Given the description of an element on the screen output the (x, y) to click on. 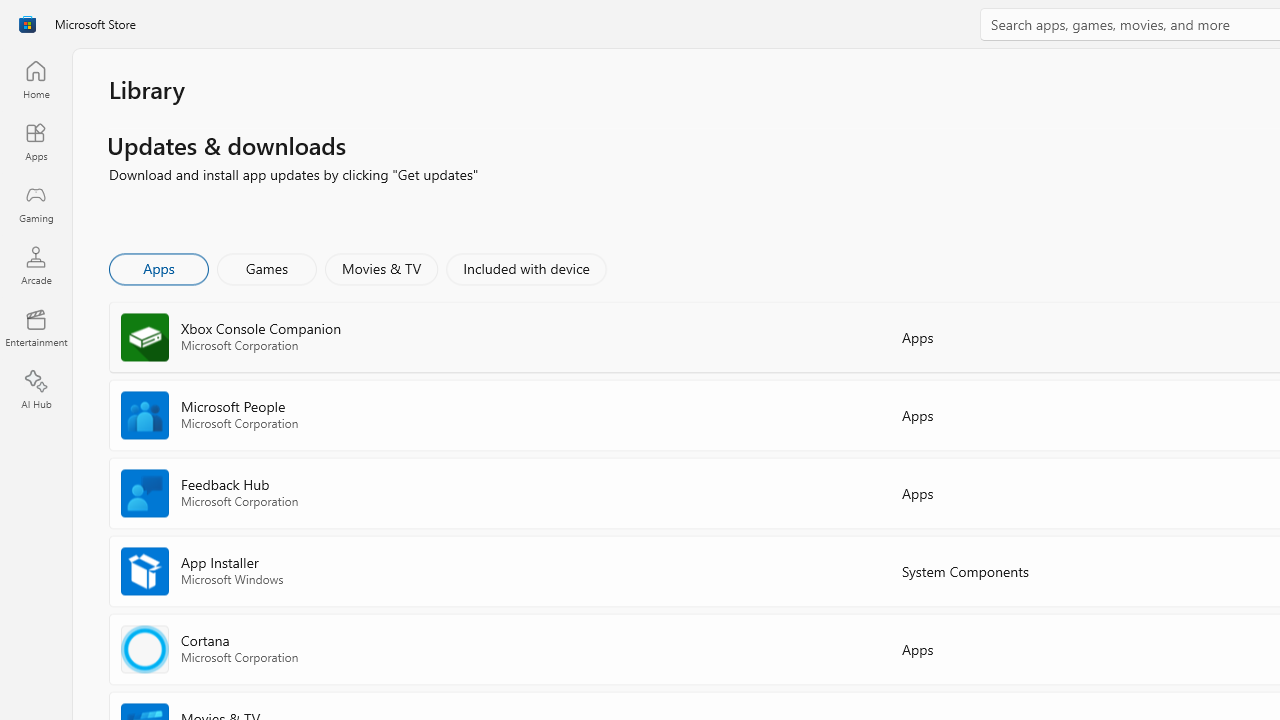
Games (267, 268)
Entertainment (35, 327)
Gaming (35, 203)
Apps (158, 268)
AI Hub (35, 390)
Home (35, 79)
Class: Image (27, 24)
Movies & TV (381, 268)
Apps (35, 141)
Included with device (525, 268)
Arcade (35, 265)
